Given the description of an element on the screen output the (x, y) to click on. 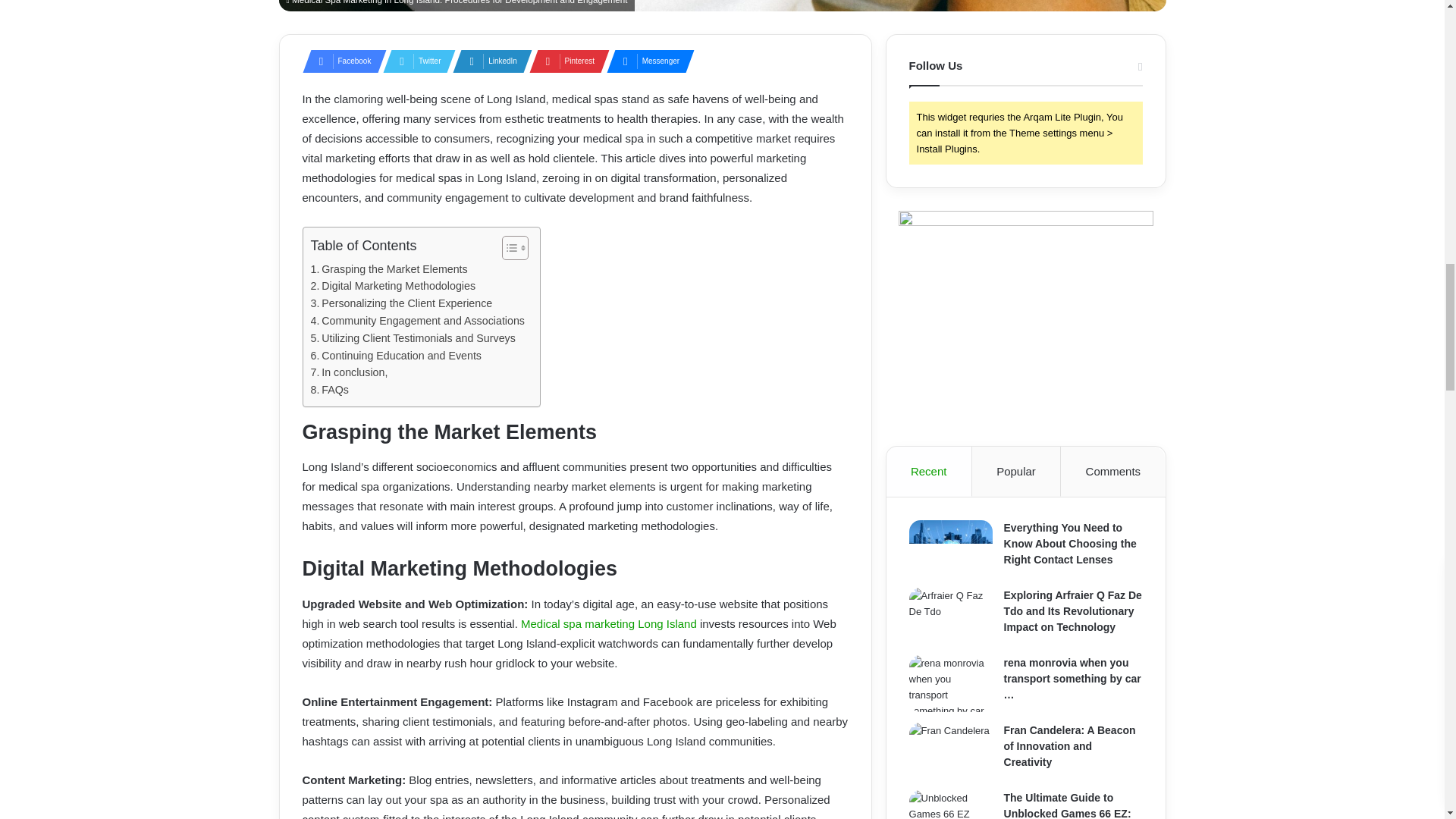
Personalizing the Client Experience (402, 303)
Facebook (339, 60)
Utilizing Client Testimonials and Surveys (413, 338)
LinkedIn (487, 60)
Utilizing Client Testimonials and Surveys (413, 338)
Messenger (646, 60)
Twitter (414, 60)
Continuing Education and Events (396, 355)
Community Engagement and Associations (417, 321)
Pinterest (564, 60)
